Given the description of an element on the screen output the (x, y) to click on. 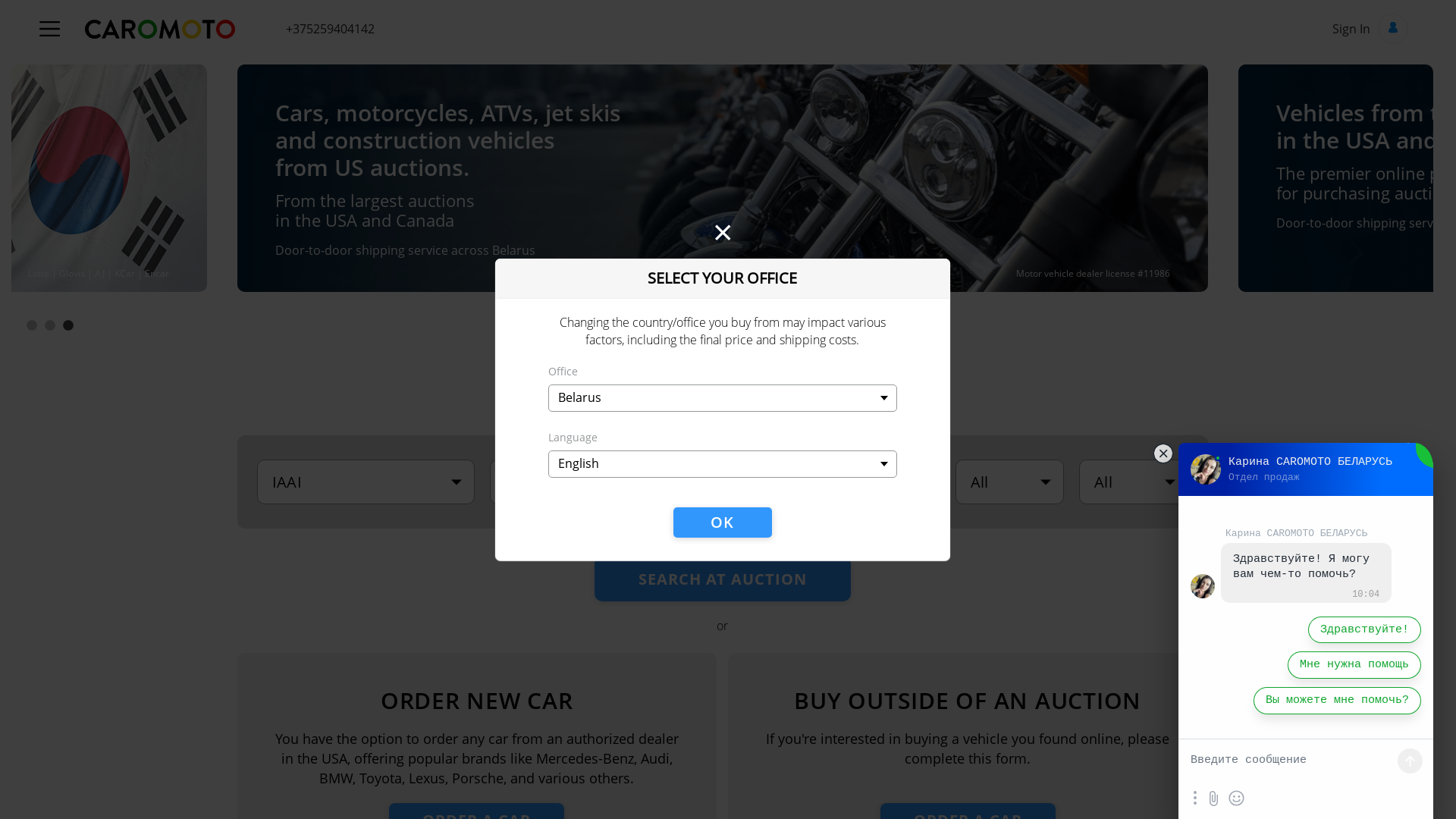
+375259404142 Element type: text (329, 28)
SHOP BY BRAND Element type: text (637, 358)
OK Element type: text (722, 522)
3 Element type: text (67, 325)
SHOP BY TYPE Element type: text (815, 358)
2 Element type: text (49, 325)
1 Element type: text (31, 325)
Sign In Element type: text (1370, 28)
SEARCH AT AUCTION Element type: text (722, 578)
